Given the description of an element on the screen output the (x, y) to click on. 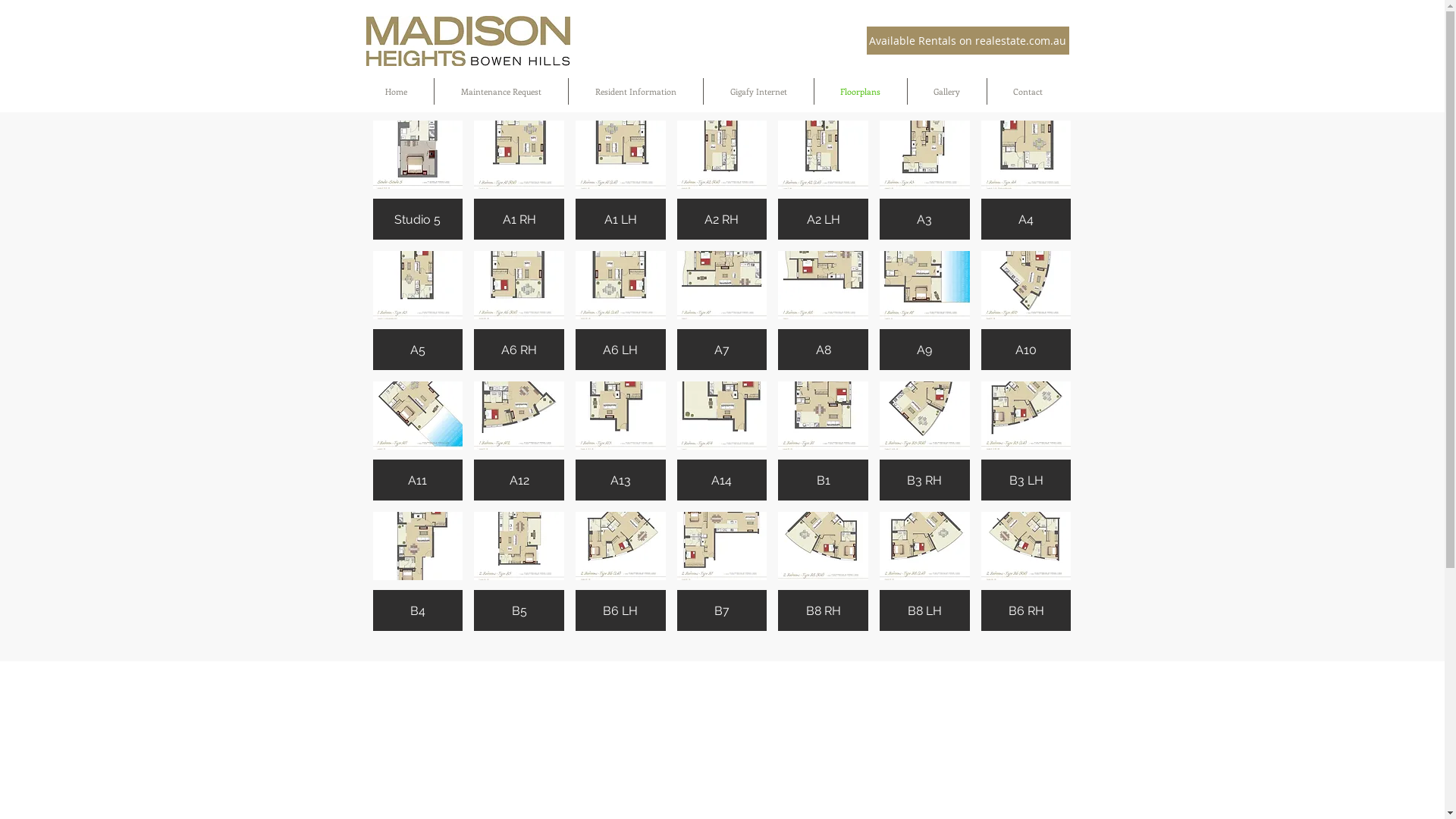
Available Rentals on realestate.com.au Element type: text (967, 40)
Contact Element type: text (1028, 91)
Floorplans Element type: text (860, 91)
Maintenance Request Element type: text (500, 91)
Resident Information Element type: text (635, 91)
Gigafy Internet Element type: text (758, 91)
Home Element type: text (395, 91)
Gallery Element type: text (945, 91)
